Given the description of an element on the screen output the (x, y) to click on. 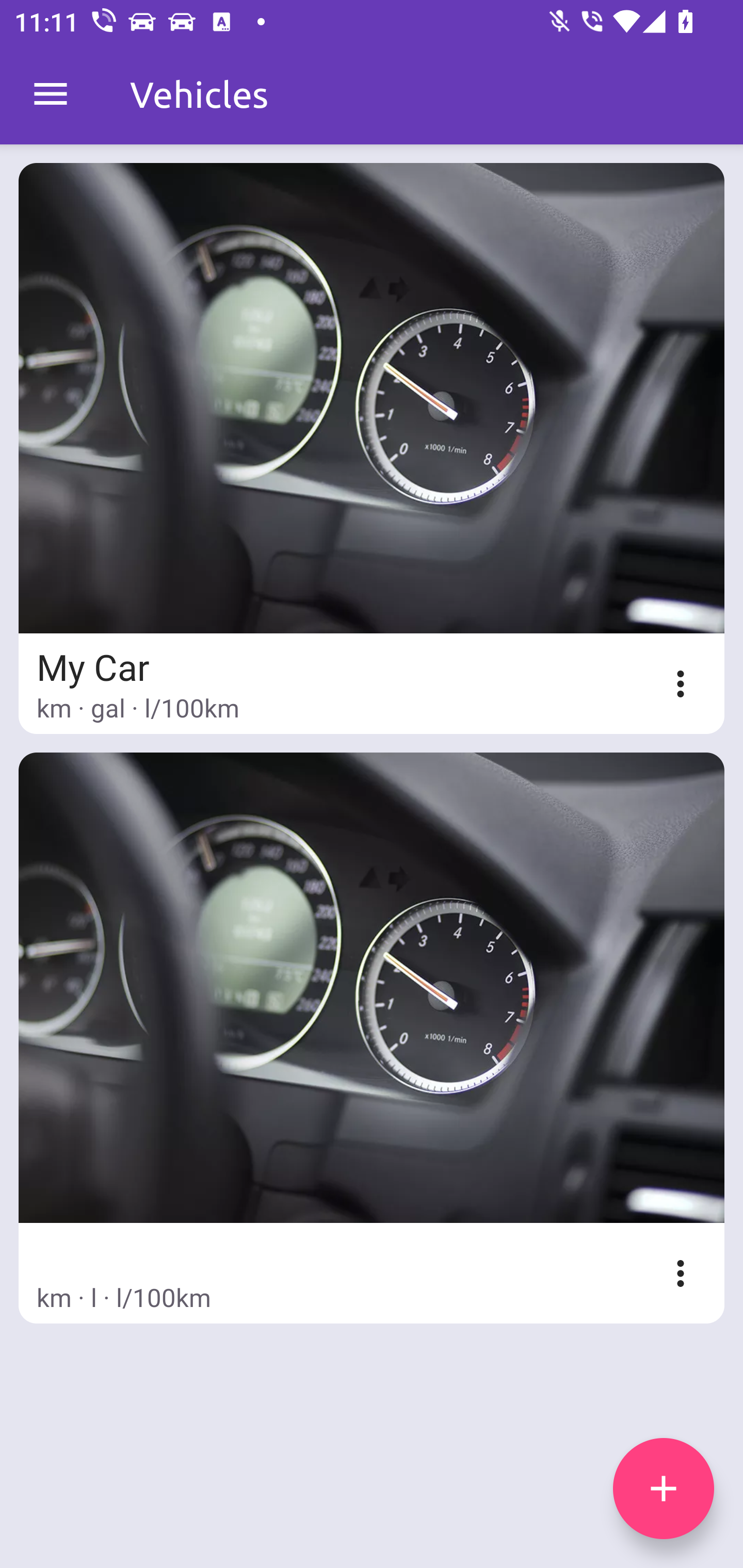
MenuDrawer (50, 93)
My Car km · gal · l/100km (371, 448)
km · l · l/100km (371, 1037)
add icon (663, 1488)
